Given the description of an element on the screen output the (x, y) to click on. 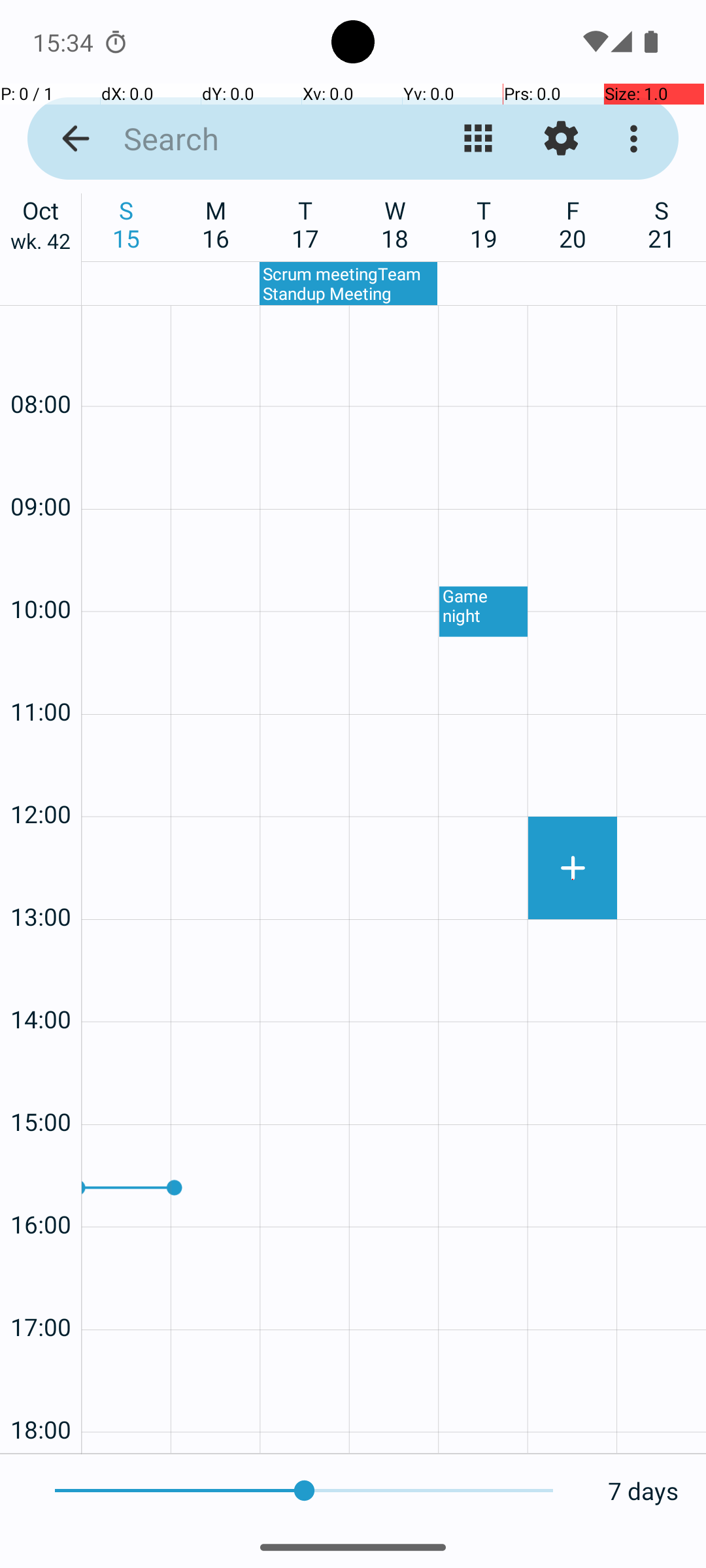
wk. 42 Element type: android.widget.TextView (40, 243)
M
16 Element type: android.widget.TextView (215, 223)
T
17 Element type: android.widget.TextView (305, 223)
W
18 Element type: android.widget.TextView (394, 223)
T
19 Element type: android.widget.TextView (483, 223)
F
20 Element type: android.widget.TextView (572, 223)
S
21 Element type: android.widget.TextView (661, 223)
Scrum meetingTeam Standup Meeting Element type: android.widget.TextView (348, 283)
Game night Element type: android.widget.TextView (483, 611)
